Given the description of an element on the screen output the (x, y) to click on. 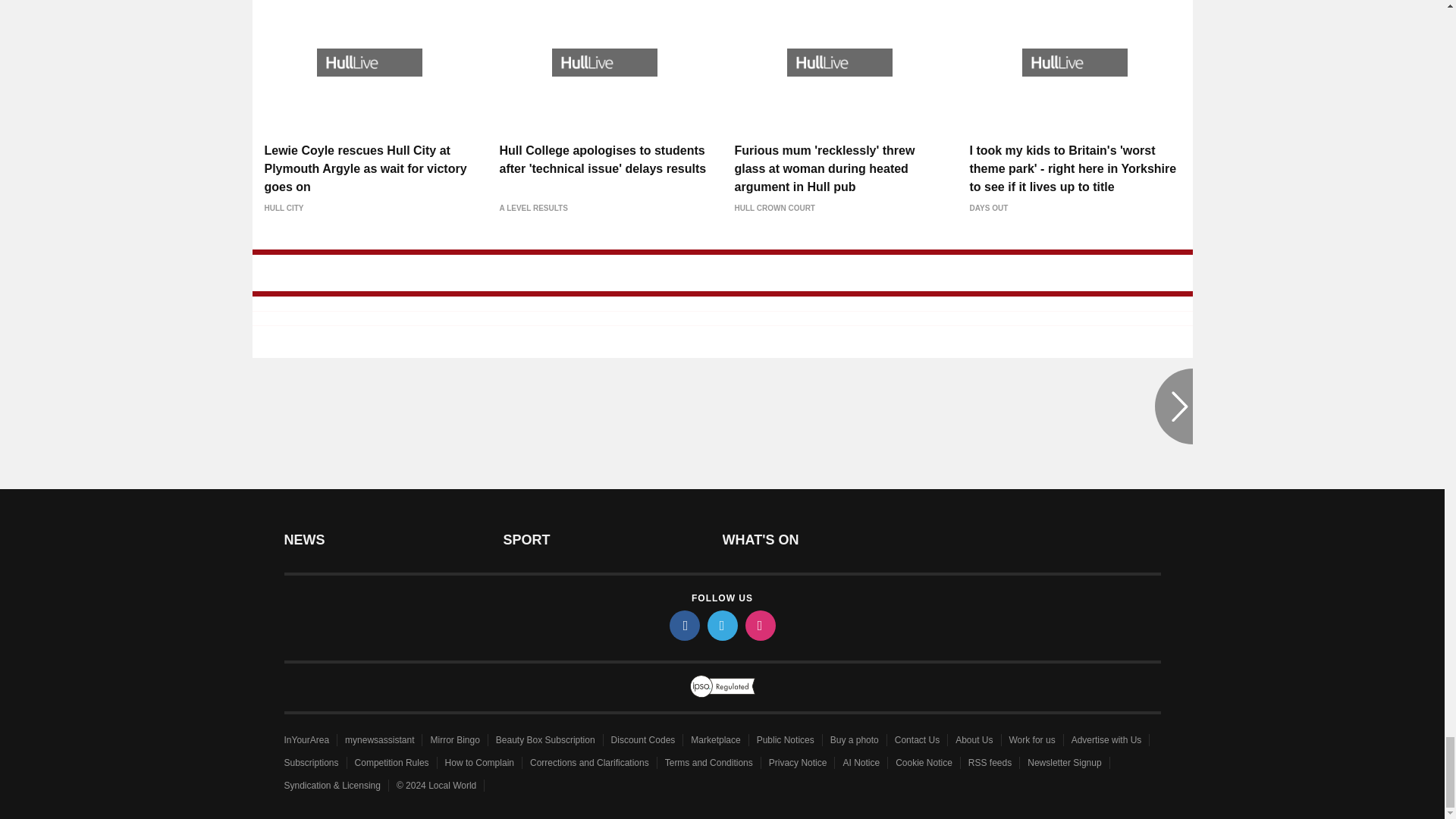
instagram (759, 625)
facebook (683, 625)
twitter (721, 625)
